Given the description of an element on the screen output the (x, y) to click on. 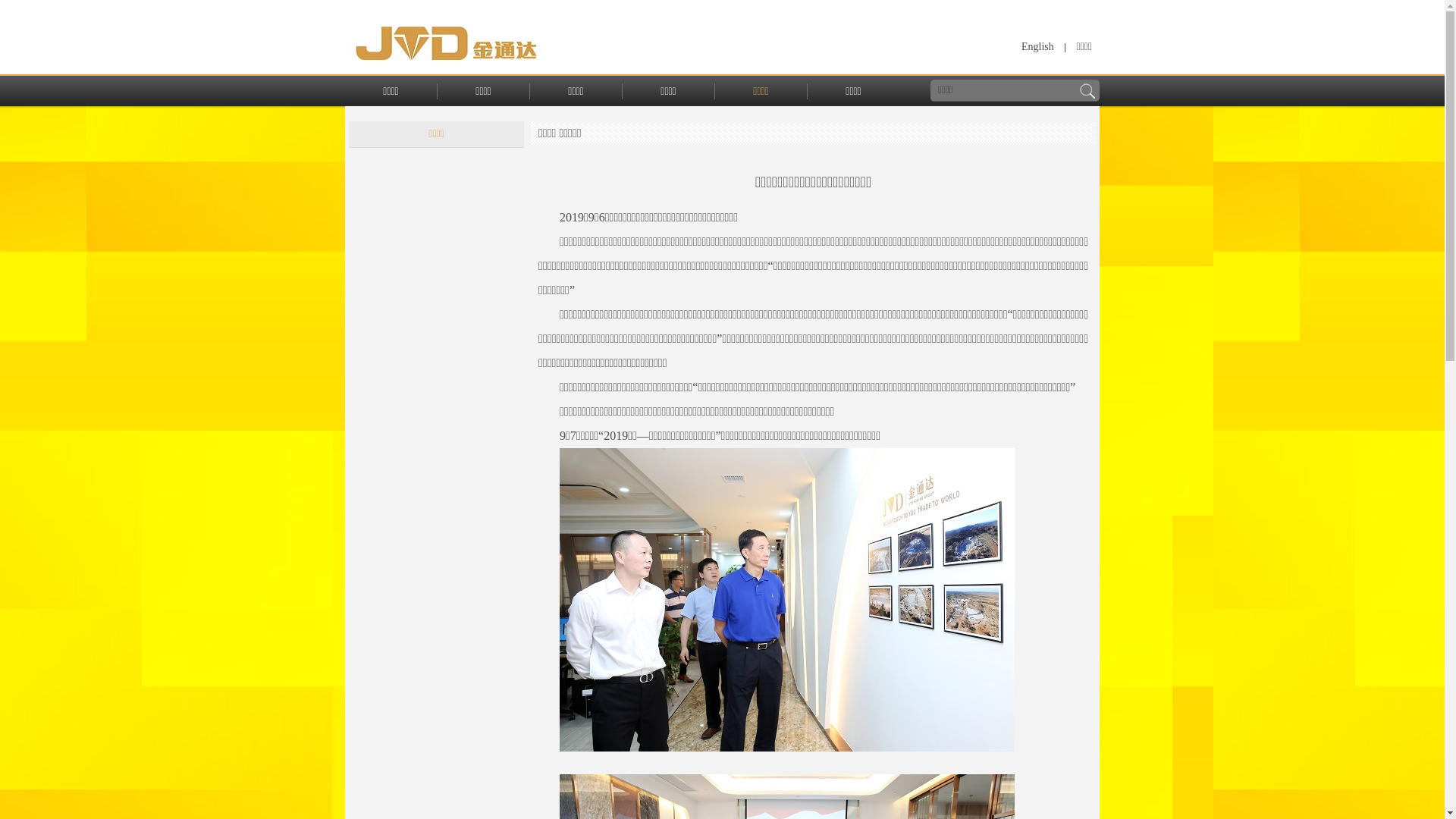
English Element type: text (1037, 46)
